Given the description of an element on the screen output the (x, y) to click on. 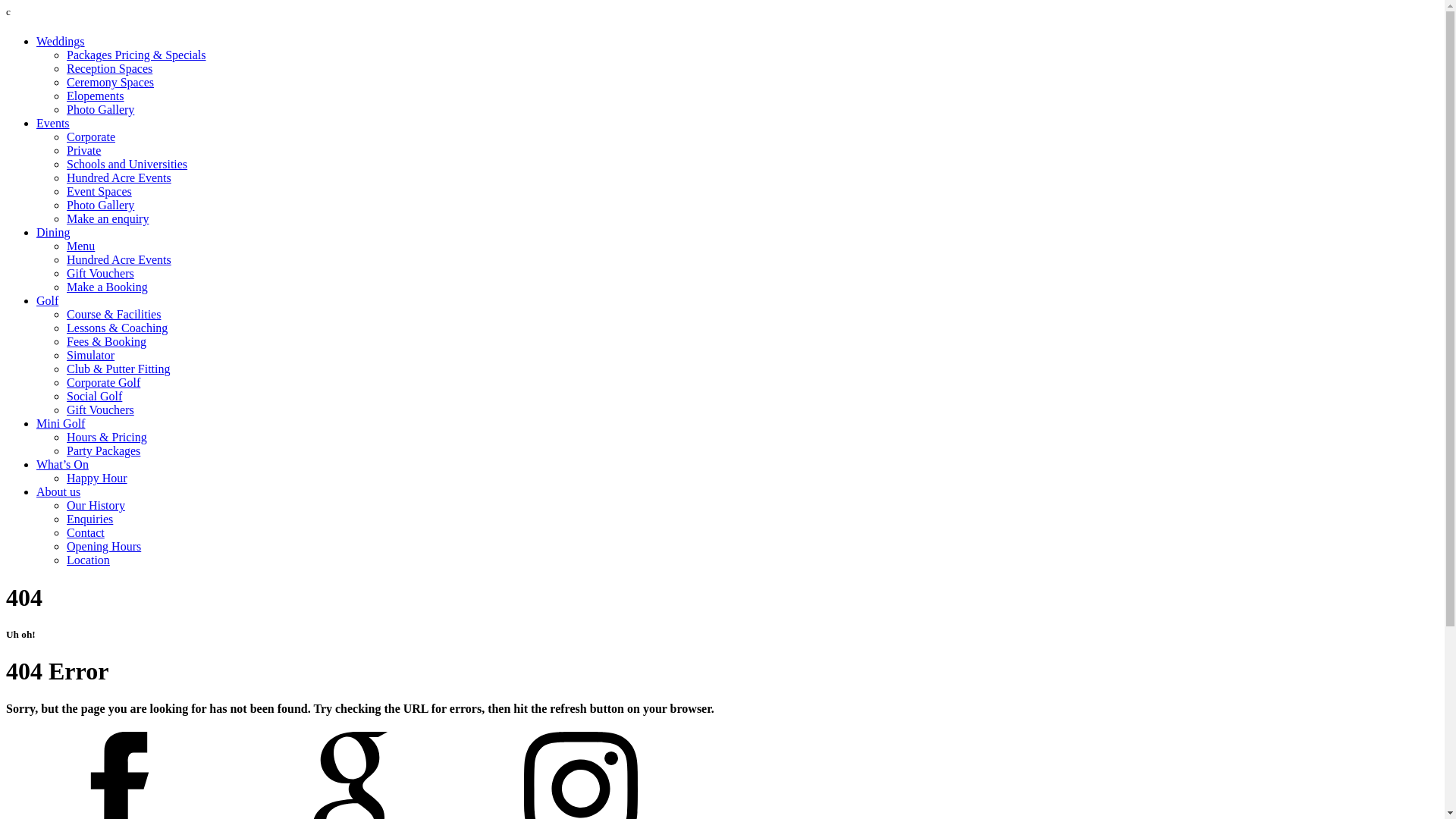
Fees & Booking Element type: text (106, 341)
Hundred Acre Events Element type: text (118, 259)
Event Spaces Element type: text (98, 191)
Packages Pricing & Specials Element type: text (136, 54)
Events Element type: text (52, 122)
Happy Hour Element type: text (96, 477)
Photo Gallery Element type: text (100, 109)
Opening Hours Element type: text (103, 545)
Hundred Acre Events Element type: text (118, 177)
Menu Element type: text (80, 245)
Club & Putter Fitting Element type: text (117, 368)
Corporate Golf Element type: text (103, 382)
About us Element type: text (58, 491)
Simulator Element type: text (90, 354)
Golf Element type: text (47, 300)
Photo Gallery Element type: text (100, 204)
Mini Golf Element type: text (60, 423)
Hours & Pricing Element type: text (106, 436)
Private Element type: text (83, 150)
Our History Element type: text (95, 504)
Reception Spaces Element type: text (109, 68)
Contact Element type: text (85, 532)
Party Packages Element type: text (103, 450)
Social Golf Element type: text (94, 395)
Weddings Element type: text (60, 40)
Ceremony Spaces Element type: text (109, 81)
Course & Facilities Element type: text (113, 313)
Elopements Element type: text (95, 95)
Make an enquiry Element type: text (107, 218)
Corporate Element type: text (90, 136)
Enquiries Element type: text (89, 518)
Location Element type: text (87, 559)
Gift Vouchers Element type: text (100, 272)
Schools and Universities Element type: text (126, 163)
Make a Booking Element type: text (106, 286)
Dining Element type: text (52, 231)
Gift Vouchers Element type: text (100, 409)
Lessons & Coaching Element type: text (116, 327)
